Given the description of an element on the screen output the (x, y) to click on. 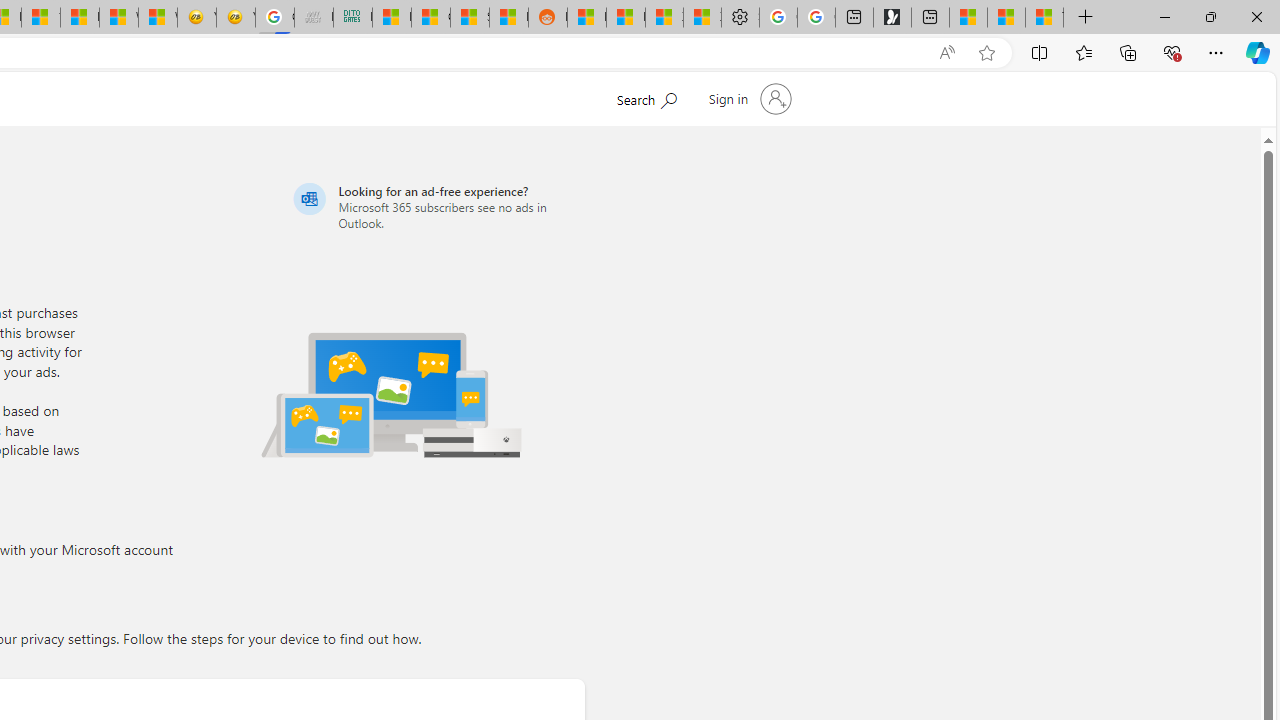
Fitness - MSN (79, 17)
14 Common Myths Debunked By Scientific Facts (40, 17)
